Given the description of an element on the screen output the (x, y) to click on. 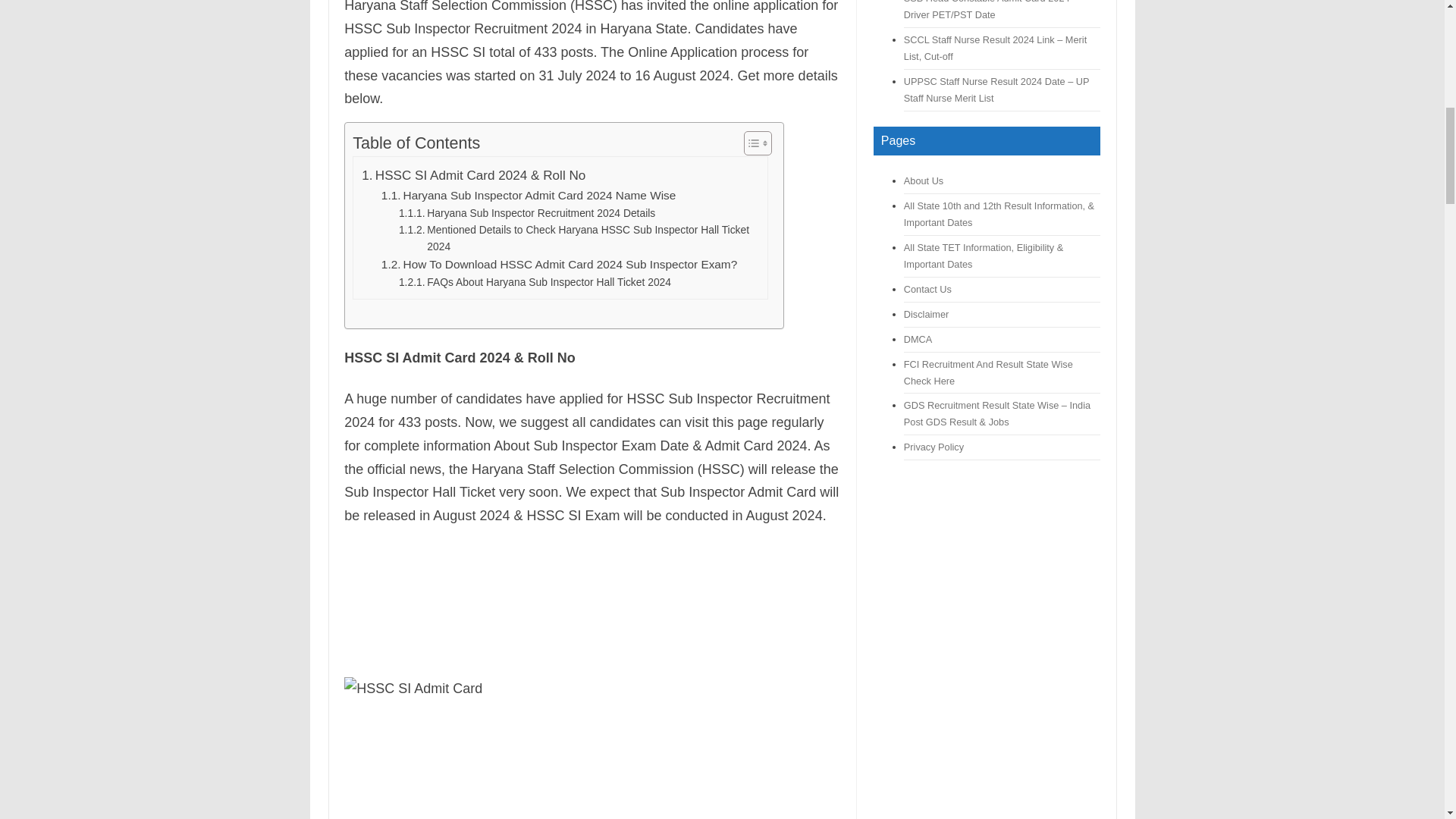
Haryana Sub Inspector Admit Card 2024 Name Wise (529, 195)
How To Download HSSC Admit Card 2024 Sub Inspector Exam? (558, 264)
FAQs About Haryana Sub Inspector Hall Ticket 2024 (534, 281)
FAQs About Haryana Sub Inspector Hall Ticket 2024 (534, 281)
Haryana Sub Inspector Recruitment 2024 Details  (526, 212)
Haryana Sub Inspector Admit Card 2024 Name Wise (529, 195)
How To Download HSSC Admit Card 2024 Sub Inspector Exam? (558, 264)
Haryana Sub Inspector Recruitment 2024 Details (526, 212)
